Given the description of an element on the screen output the (x, y) to click on. 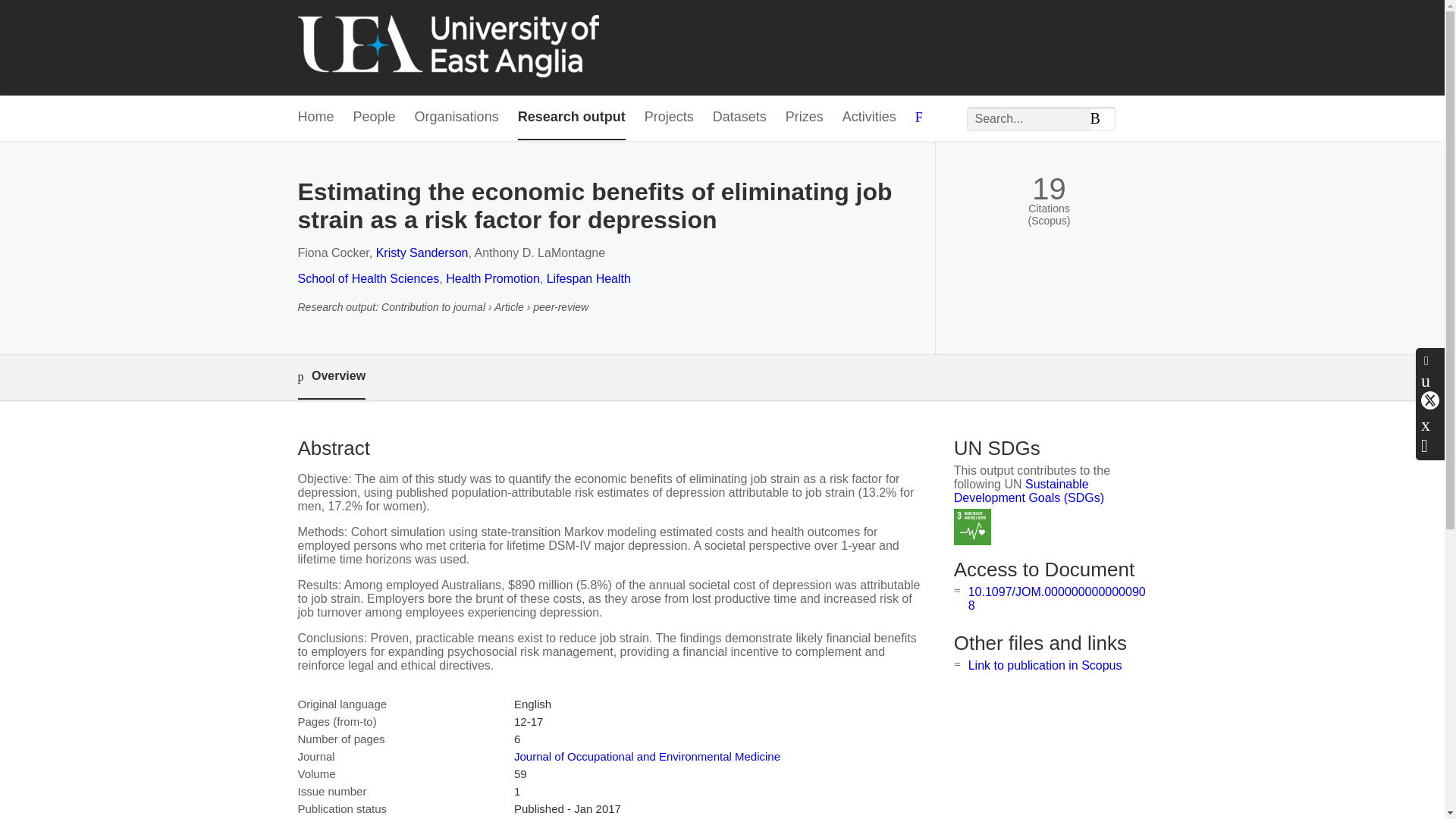
Kristy Sanderson (421, 252)
Lifespan Health (588, 278)
School of Health Sciences (368, 278)
Datasets (740, 117)
Projects (669, 117)
SDG 3 - Good Health and Well-being (972, 527)
Research output (572, 117)
Overview (331, 376)
Health Promotion (492, 278)
Activities (869, 117)
Link to publication in Scopus (1045, 665)
Journal of Occupational and Environmental Medicine (646, 756)
People (374, 117)
University of East Anglia Home (447, 47)
